Given the description of an element on the screen output the (x, y) to click on. 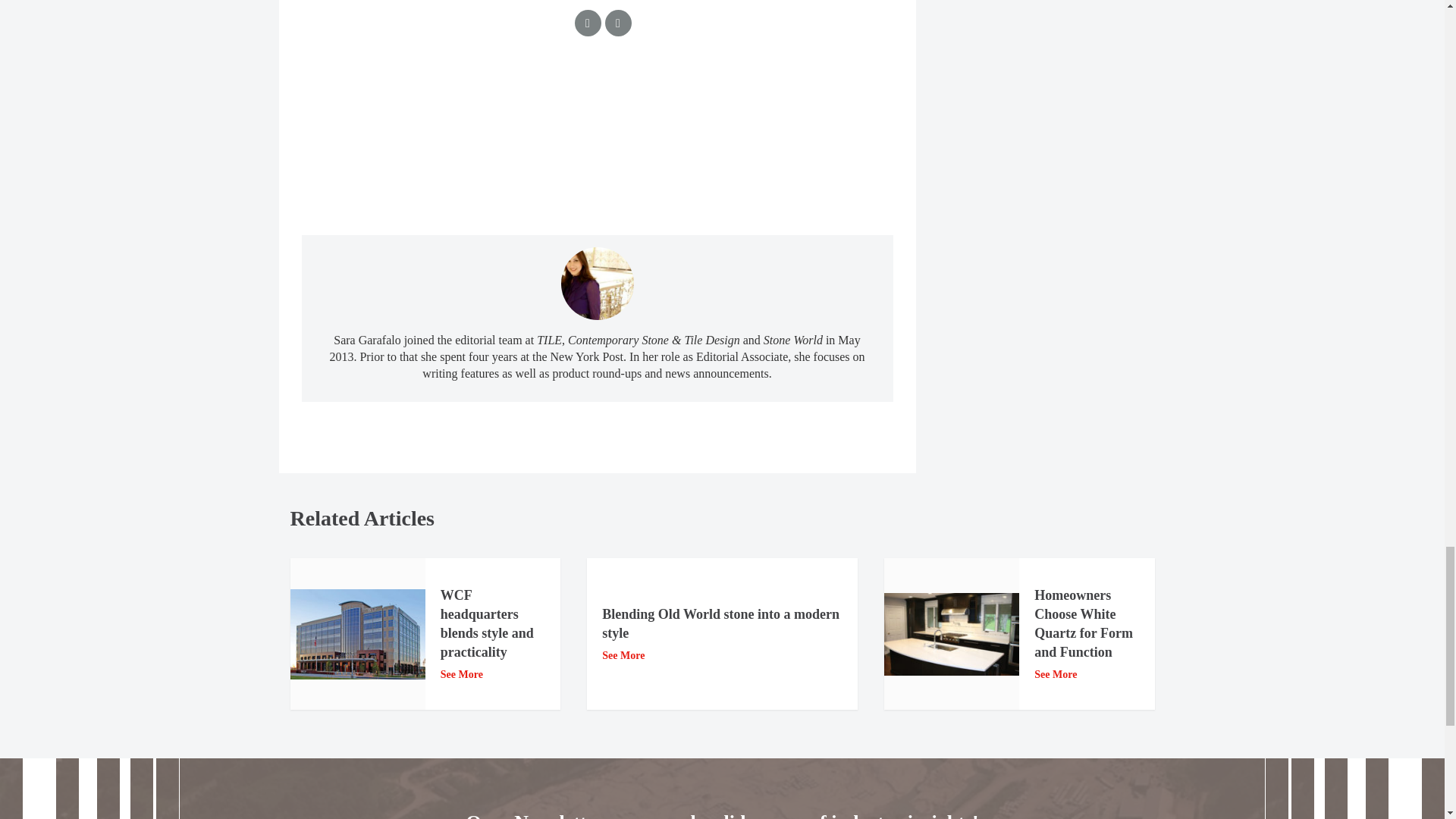
Interaction questions (597, 142)
Vicostone Statuario quartz surfacing (951, 633)
